Given the description of an element on the screen output the (x, y) to click on. 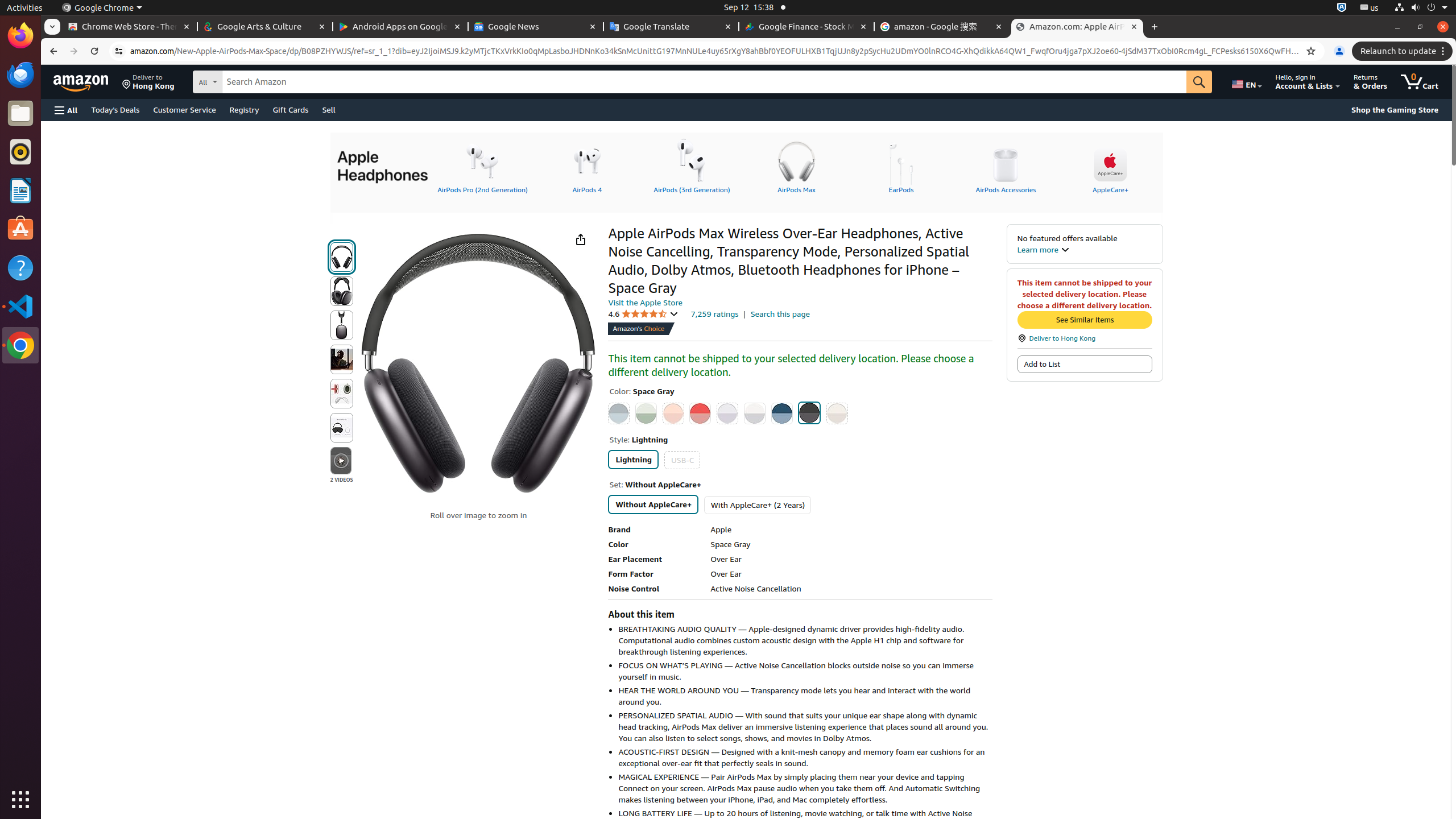
You Element type: push-button (1339, 50)
Pink Element type: push-button (699, 412)
Visit the Apple Store Element type: link (644, 301)
Deliver to Hong Kong Element type: link (1084, 337)
Sky Blue Element type: push-button (781, 412)
